Given the description of an element on the screen output the (x, y) to click on. 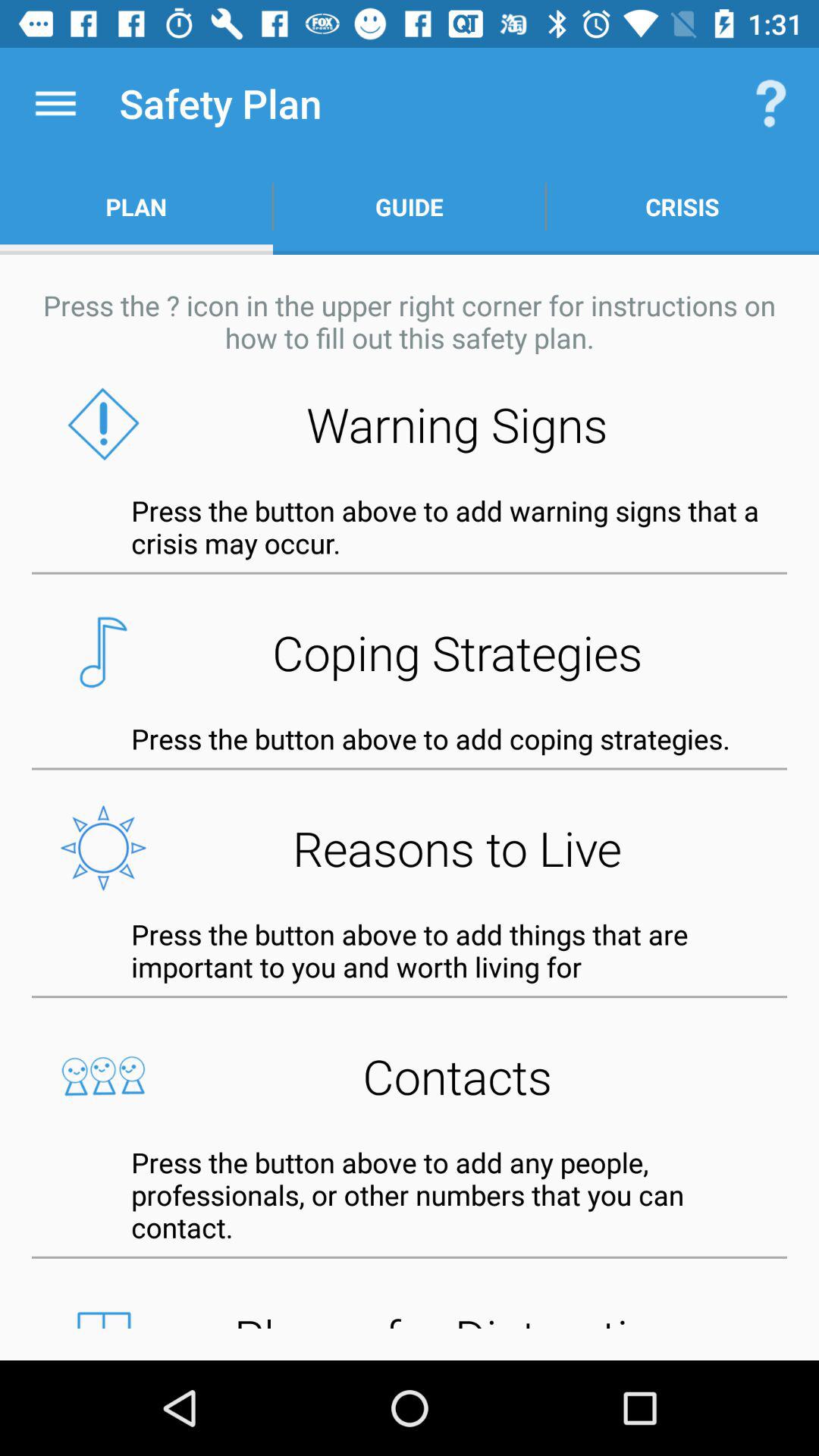
scroll to places for distraction button (409, 1314)
